Given the description of an element on the screen output the (x, y) to click on. 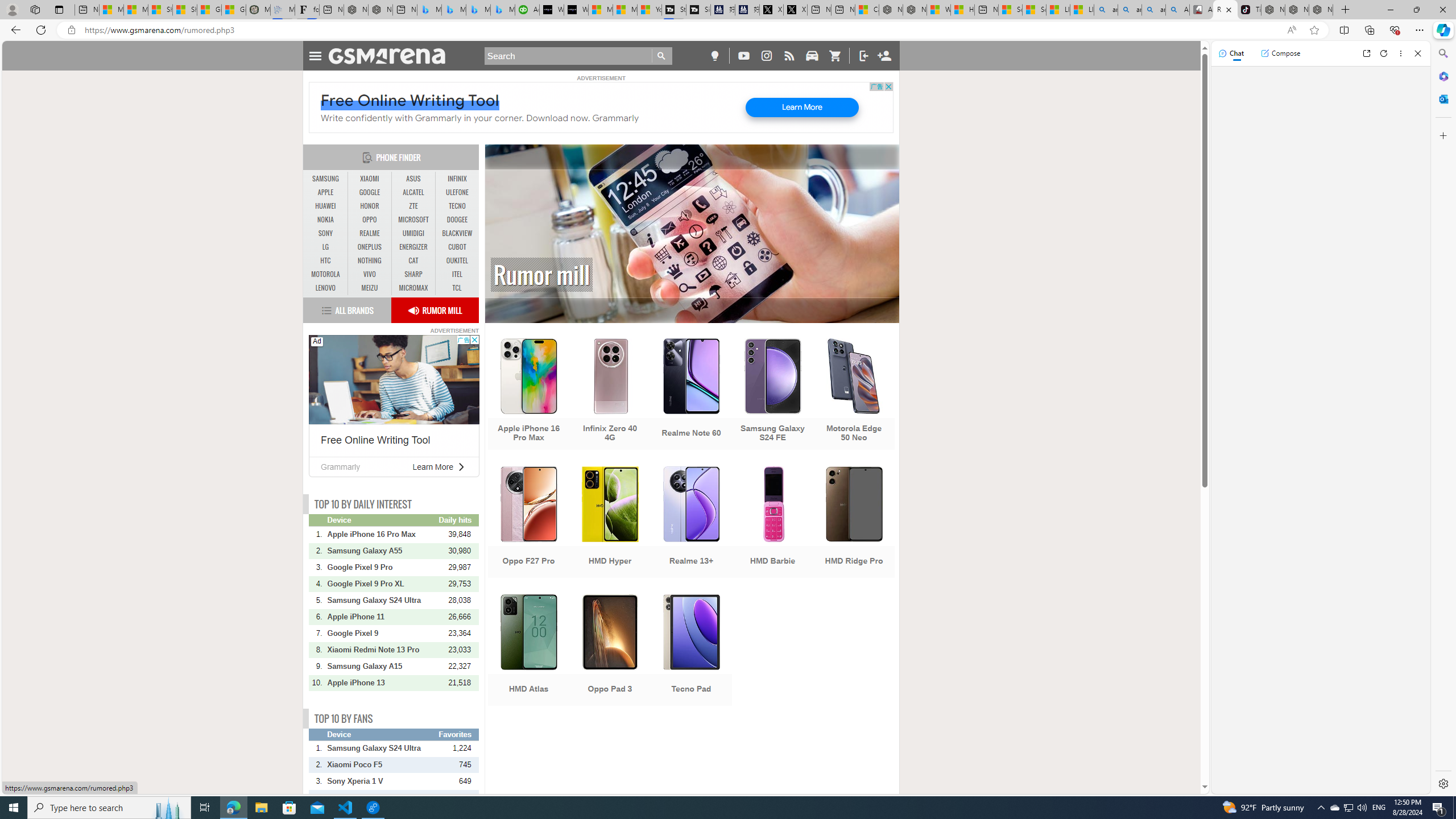
HTC (325, 260)
MICROMAX (413, 287)
OPPO (369, 219)
amazon - Search (1129, 9)
Nordace Siena Pro 15 Backpack (1296, 9)
CUBOT (457, 246)
AutomationID: anchor (391, 55)
Apple iPhone 15 Pro Max (381, 797)
SONY (325, 233)
APPLE (325, 192)
Outlook (1442, 98)
Class: ns-pn808-e-22 (460, 466)
NOTHING (369, 260)
